Given the description of an element on the screen output the (x, y) to click on. 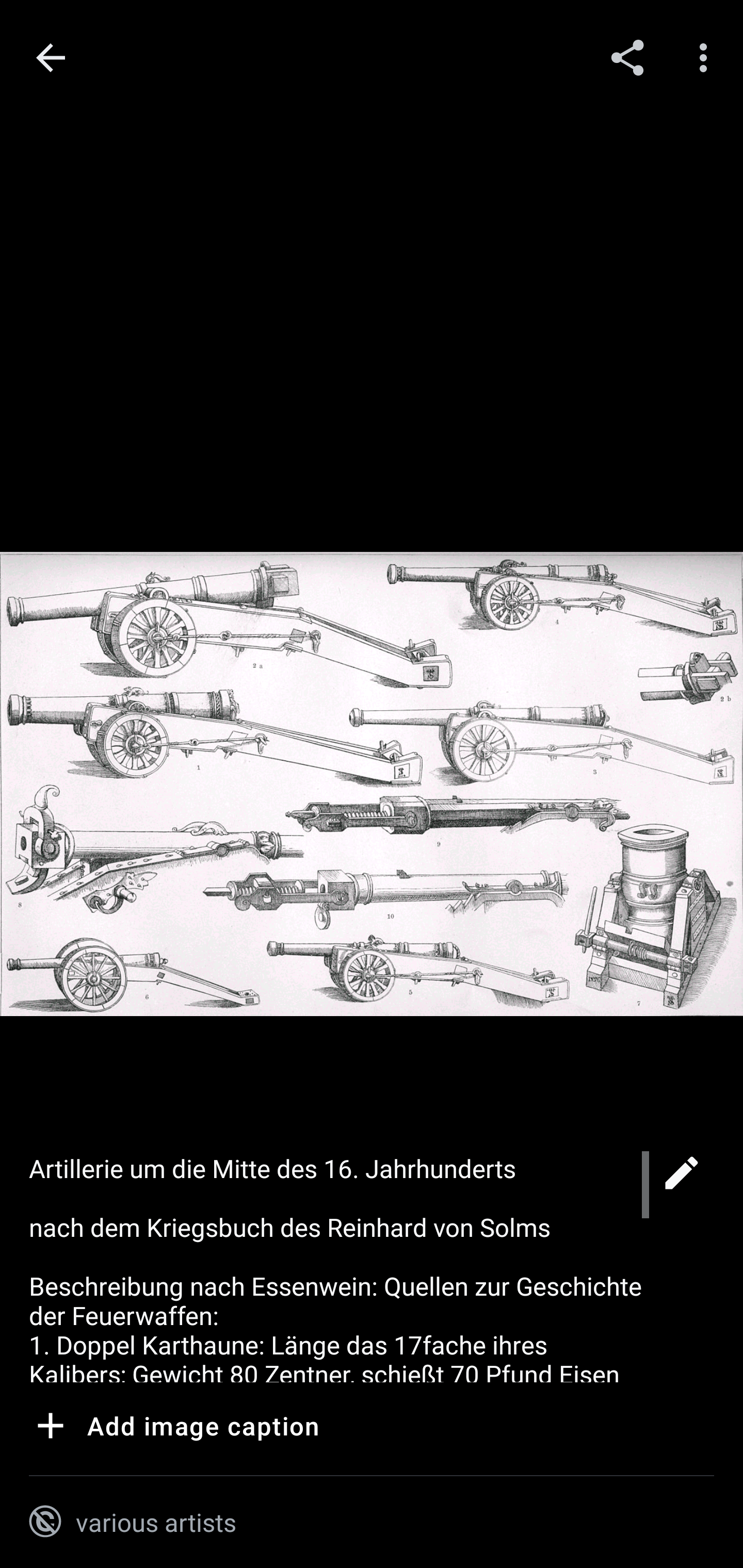
Navigate up (50, 57)
Share (626, 57)
More options (706, 57)
Edit image caption (681, 1177)
Add image caption (174, 1428)
Public domain (44, 1521)
